Given the description of an element on the screen output the (x, y) to click on. 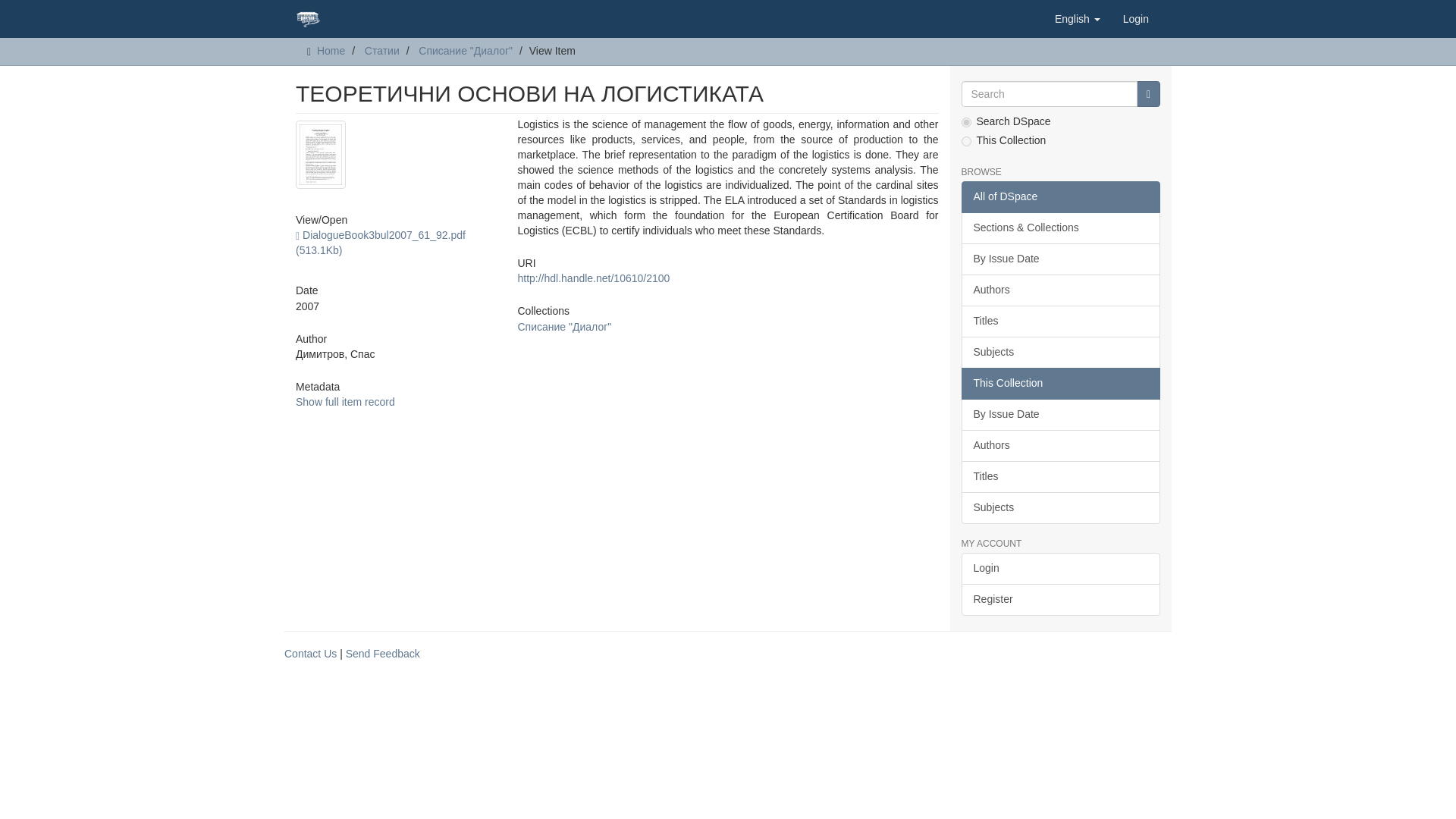
By Issue Date (1060, 259)
Register (1060, 599)
Home (331, 50)
All of DSpace (1060, 196)
Login (1060, 568)
Subjects (1060, 508)
This Collection (1060, 383)
Authors (1060, 290)
Go (1148, 94)
English  (1077, 18)
Show full item record (344, 401)
Authors (1060, 445)
Titles (1060, 477)
Titles (1060, 321)
By Issue Date (1060, 414)
